Given the description of an element on the screen output the (x, y) to click on. 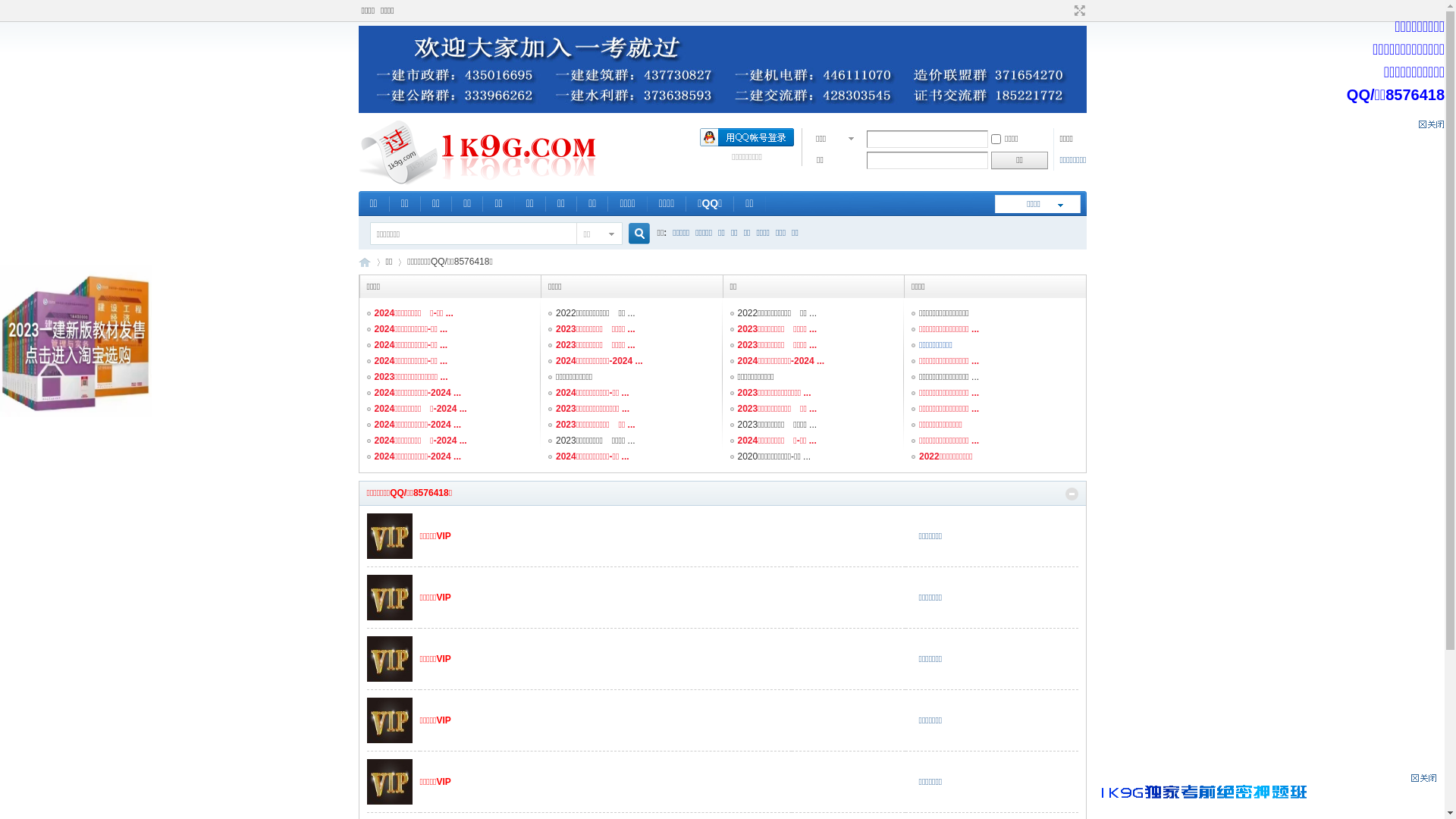
true Element type: text (632, 233)
